Given the description of an element on the screen output the (x, y) to click on. 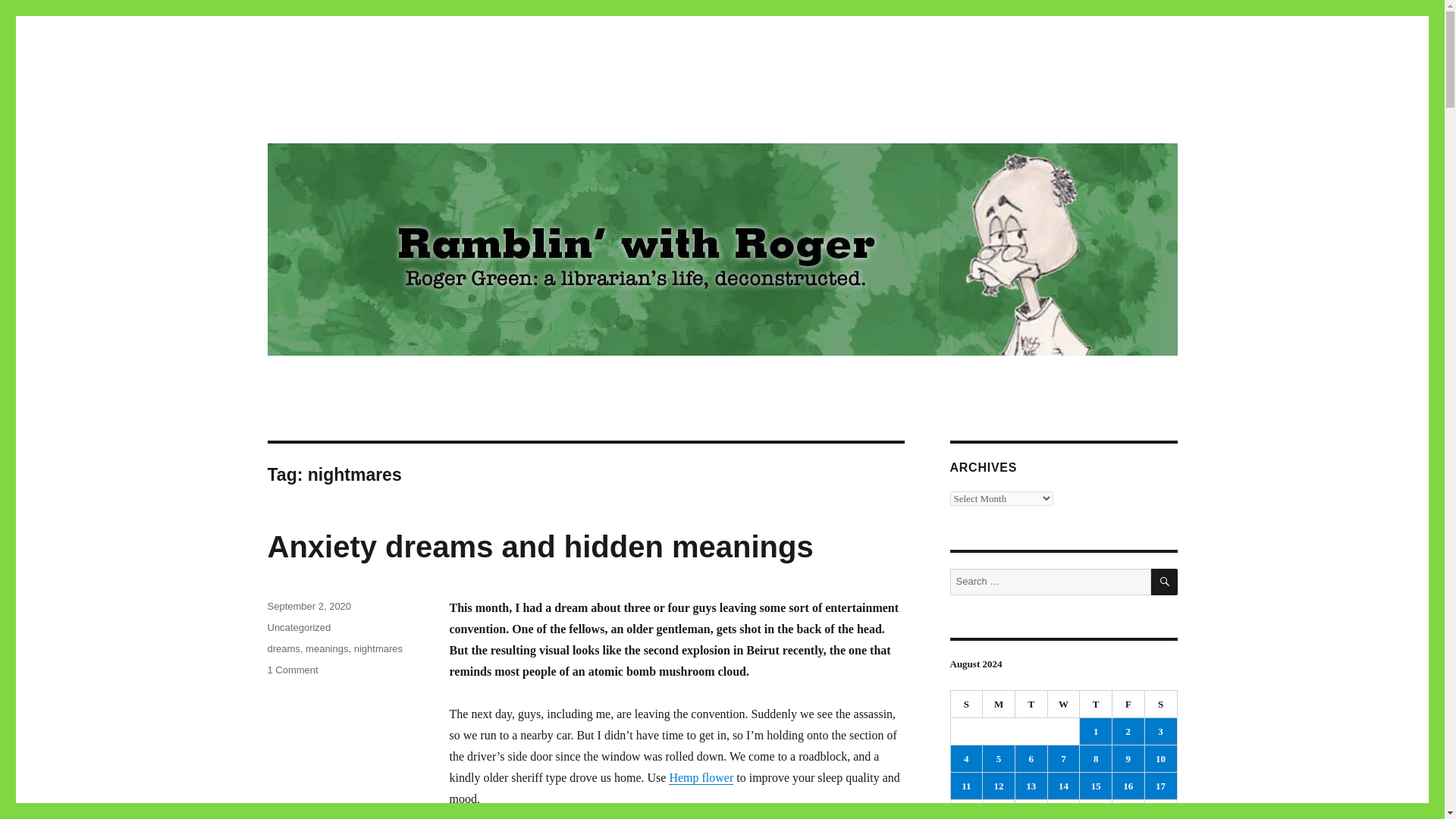
5 (291, 669)
Hemp flower (998, 758)
Ramblin' with Roger (700, 777)
Sunday (368, 114)
11 (967, 704)
8 (966, 786)
Anxiety dreams and hidden meanings (1096, 758)
nightmares (539, 546)
15 (378, 648)
